Given the description of an element on the screen output the (x, y) to click on. 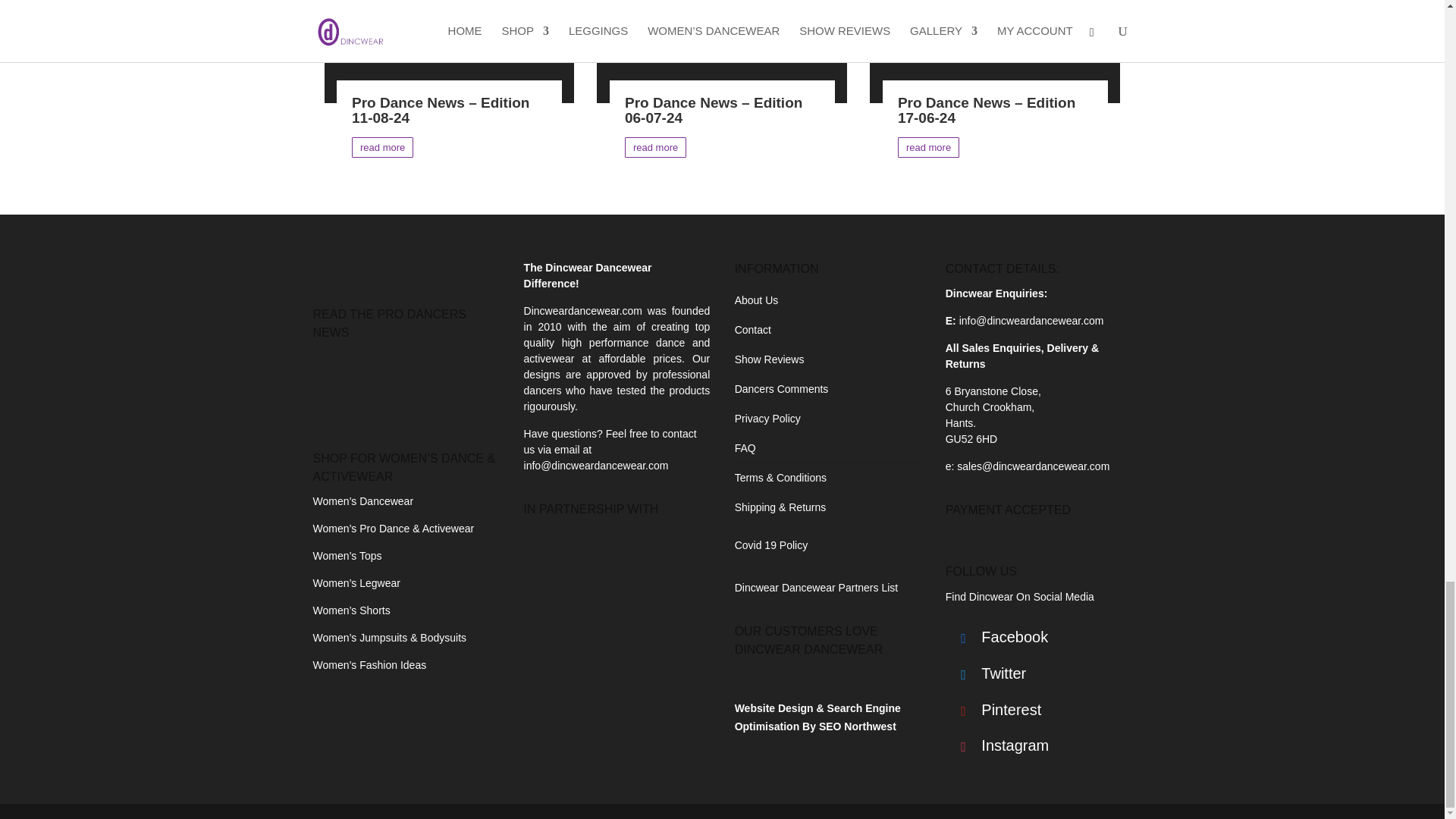
Women's Activewear Legwear (355, 582)
Twitter (996, 675)
Facebook (996, 638)
Payment accept (1038, 534)
Customer reviews powered by Trustpilot (828, 675)
In Partnership With (585, 560)
